Given the description of an element on the screen output the (x, y) to click on. 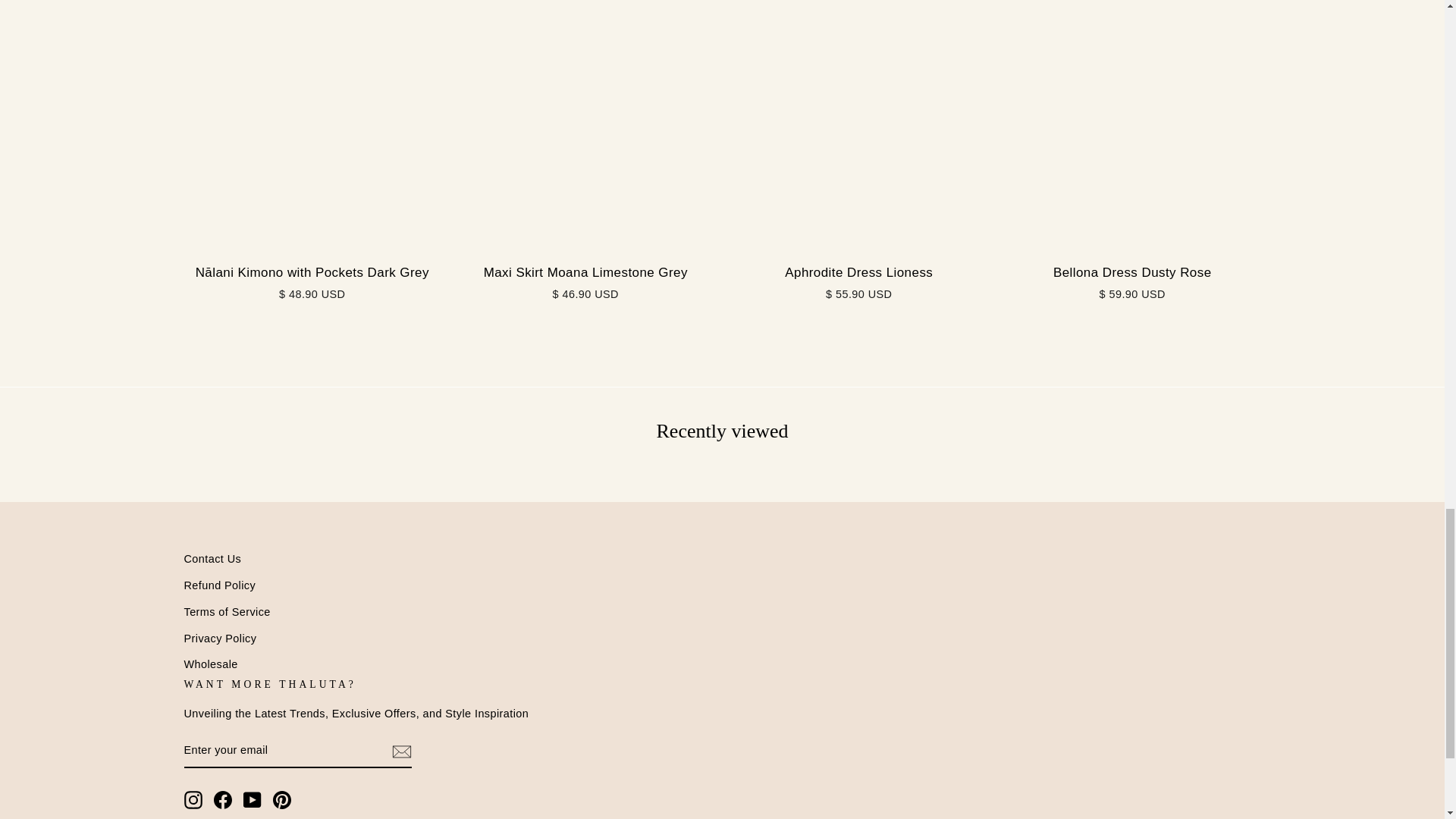
Thaluta on Instagram (192, 800)
Thaluta on Pinterest (282, 800)
icon-email (400, 751)
Thaluta on Facebook (222, 800)
instagram (192, 800)
Thaluta on YouTube (251, 800)
